Given the description of an element on the screen output the (x, y) to click on. 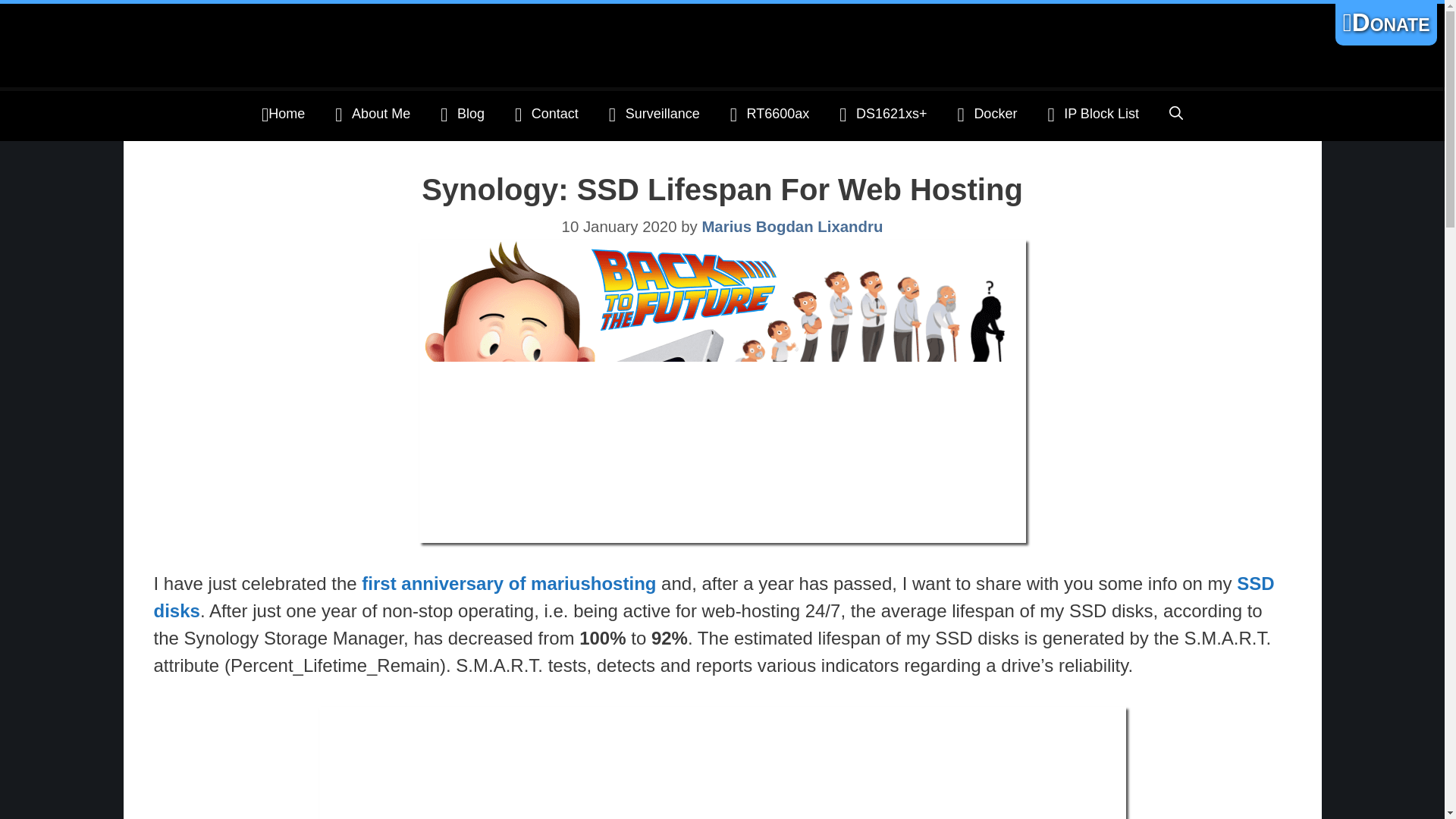
SSD disks (713, 596)
Docker (987, 115)
Surveillance (654, 115)
View all posts by Marius Bogdan Lixandru (791, 226)
Contact (546, 115)
Home (283, 115)
first anniversary of mariushosting (508, 583)
Blog (462, 115)
About Me (372, 115)
RT6600ax (769, 115)
IP Block List (1093, 115)
Marius Bogdan Lixandru (791, 226)
